Given the description of an element on the screen output the (x, y) to click on. 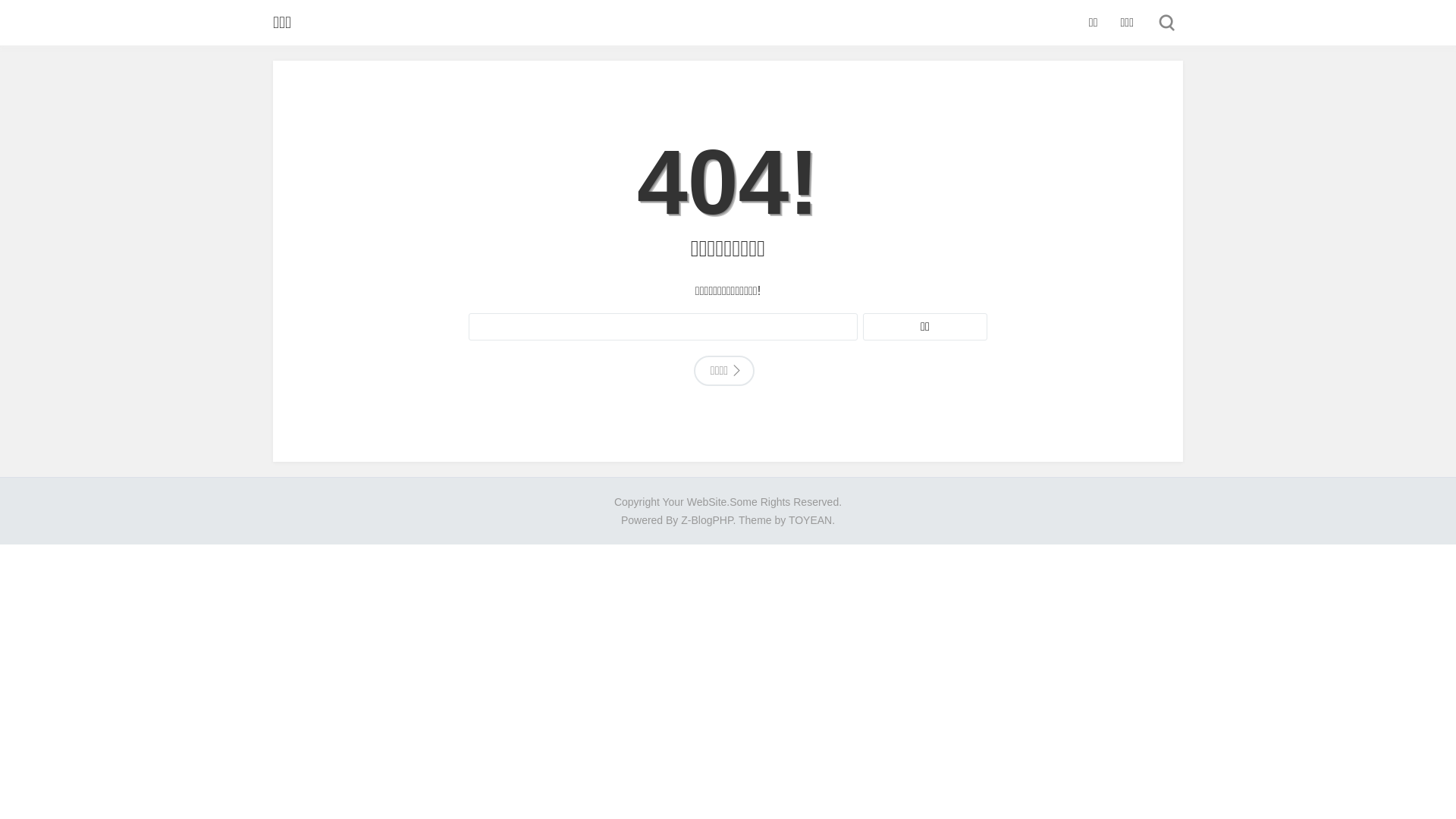
TOYEAN Element type: text (809, 520)
Z-BlogPHP Element type: text (706, 520)
